Given the description of an element on the screen output the (x, y) to click on. 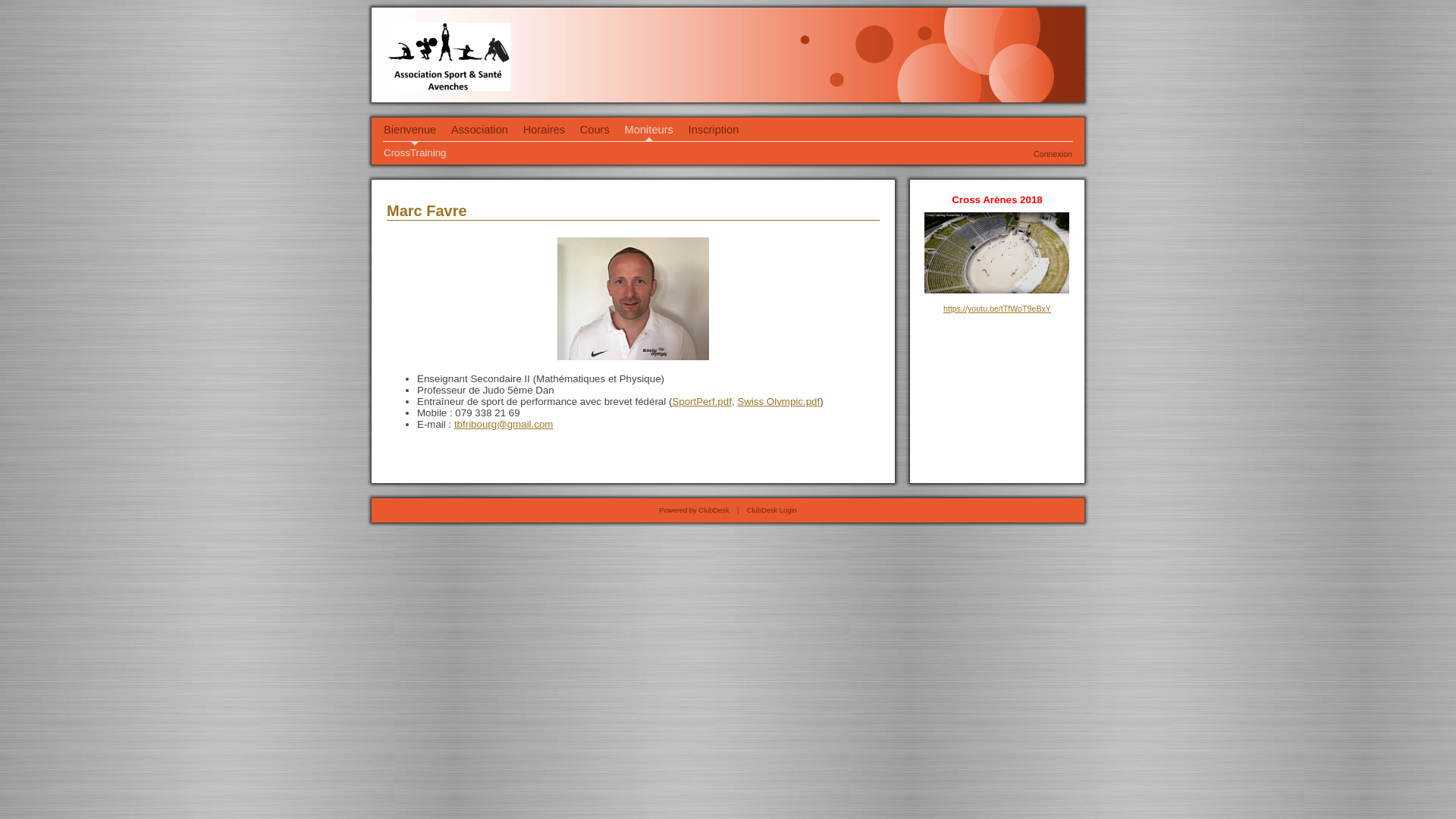
Moniteurs Element type: text (648, 129)
ClubDesk Login Element type: text (771, 510)
https://youtu.be/tTfWoT9eBxY Element type: text (997, 308)
Bienvenue Element type: text (409, 129)
tbfribourg@gmail.com Element type: text (503, 423)
SportPerf.pdf Element type: text (701, 401)
Connexion Element type: text (1052, 153)
CrossTraining Element type: text (414, 152)
Horaires Element type: text (543, 129)
Cours Element type: text (594, 129)
Inscription Element type: text (713, 129)
Association Element type: text (479, 129)
Powered by ClubDesk Element type: text (693, 510)
Swiss Olympic.pdf Element type: text (778, 401)
